Given the description of an element on the screen output the (x, y) to click on. 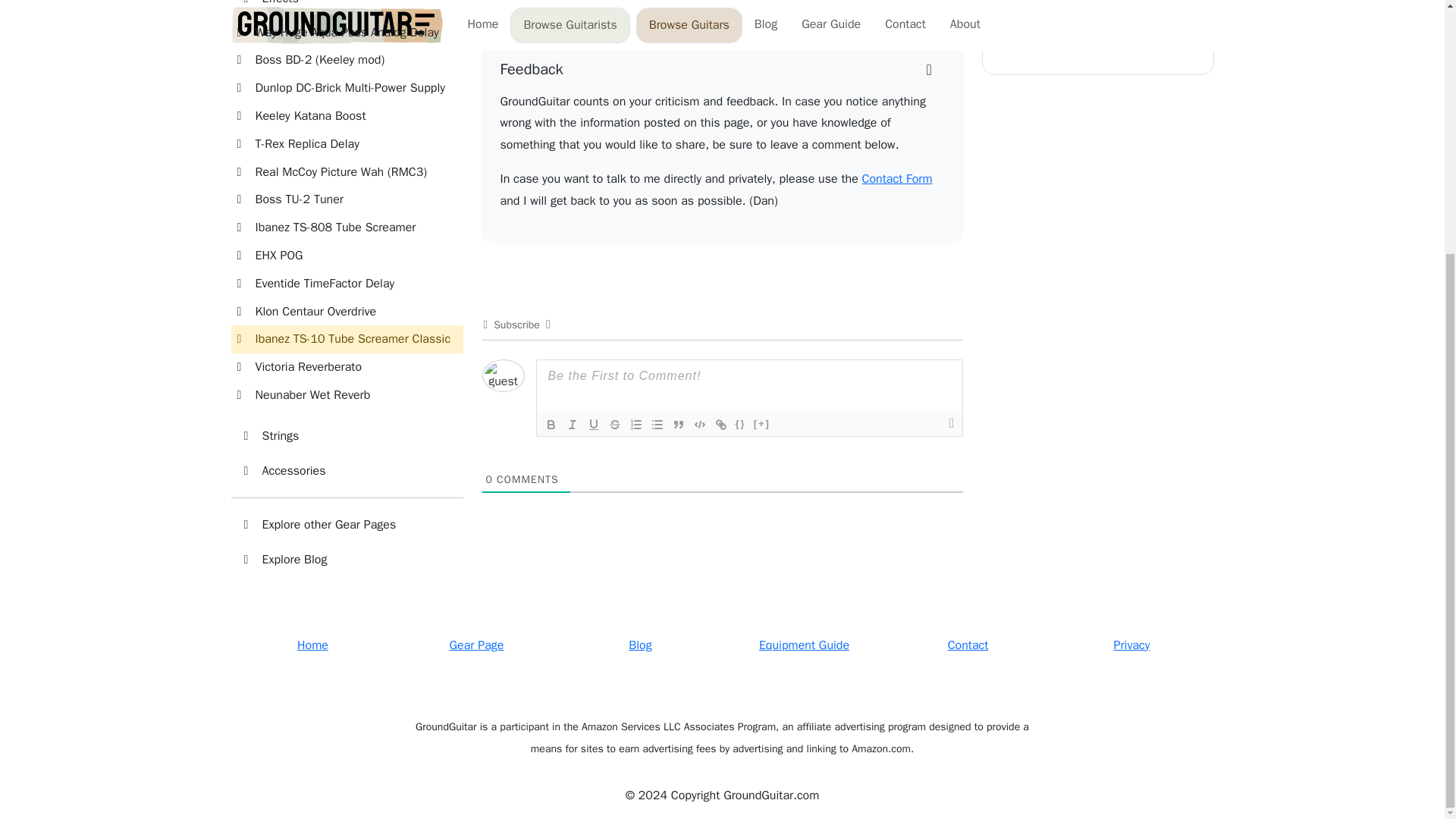
Bold (550, 424)
Ordered List (635, 424)
Strike (614, 424)
John Mayer's Ibanez TS-808 Tube Screamer (616, 2)
Blockquote (677, 424)
Unordered List (656, 424)
Link (720, 424)
Underline (593, 424)
Italic (571, 424)
Spoiler (761, 424)
